Given the description of an element on the screen output the (x, y) to click on. 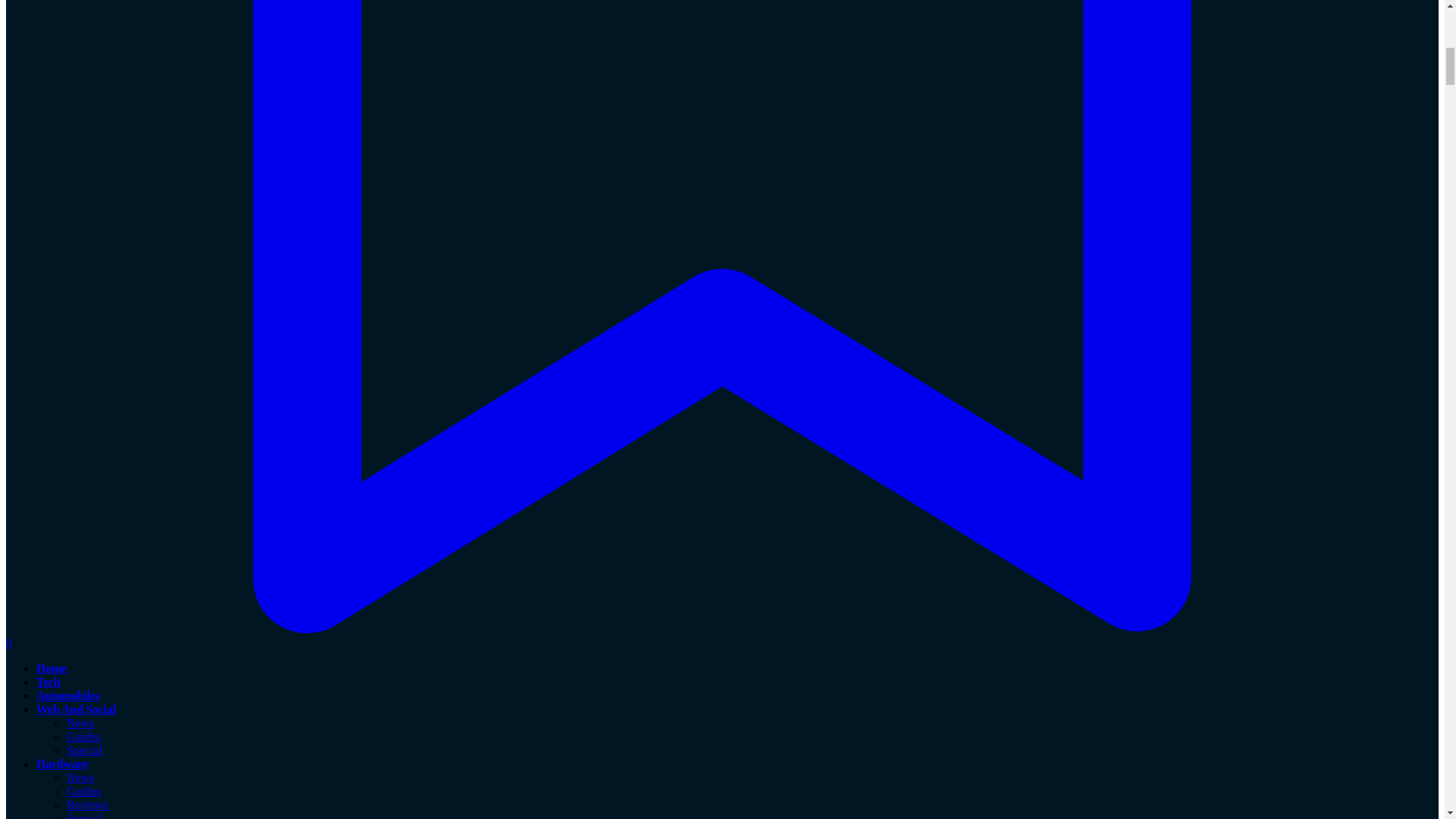
Automobiles (67, 695)
Guides (83, 736)
Reviews (86, 804)
Hardware (61, 763)
Special (83, 749)
Tech (47, 681)
News (80, 722)
News (80, 777)
Home (51, 667)
Special (83, 815)
Web And Social (76, 708)
Guides (83, 790)
